Given the description of an element on the screen output the (x, y) to click on. 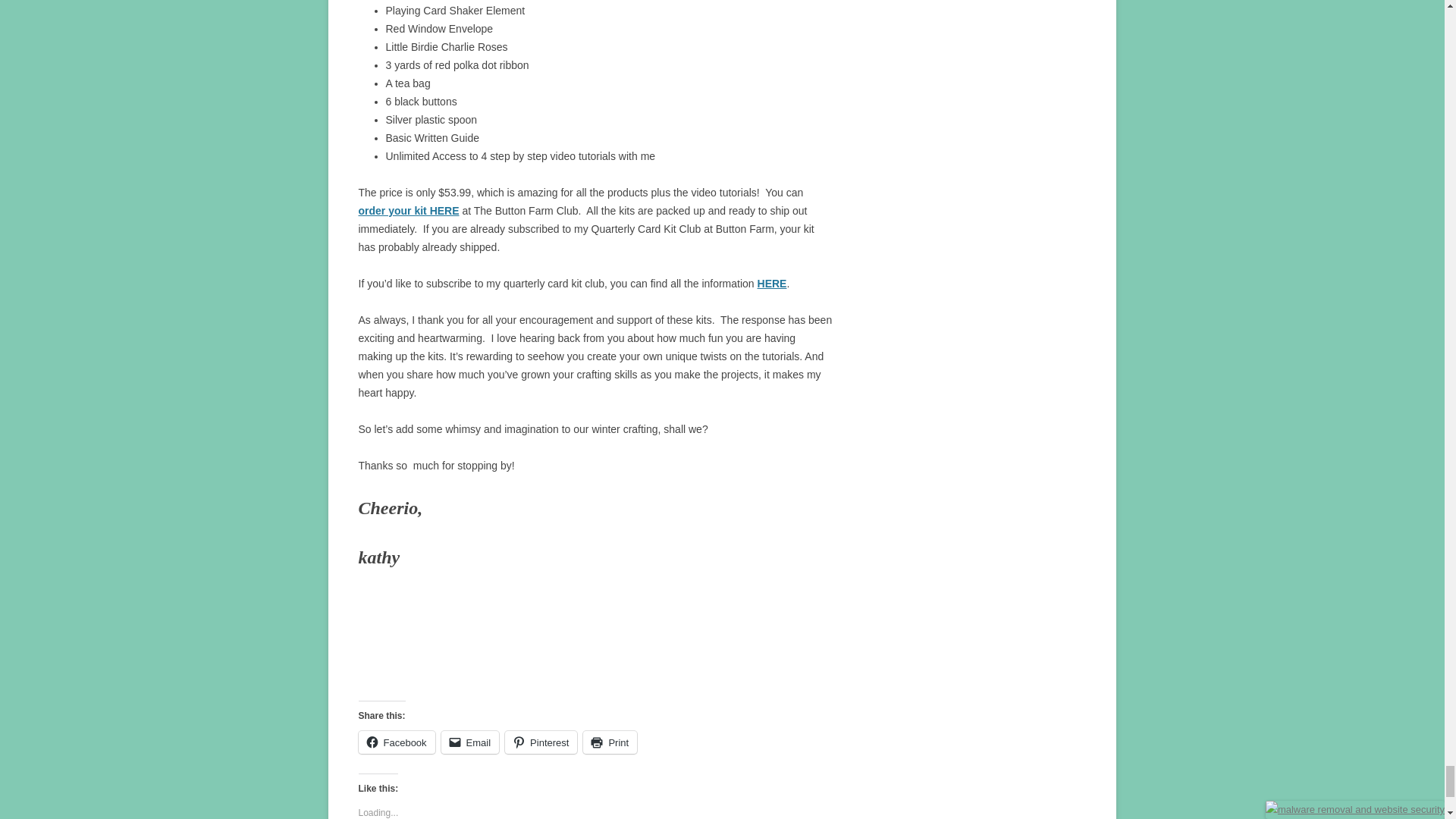
Click to share on Facebook (395, 742)
Click to share on Pinterest (540, 742)
Click to email a link to a friend (470, 742)
